Given the description of an element on the screen output the (x, y) to click on. 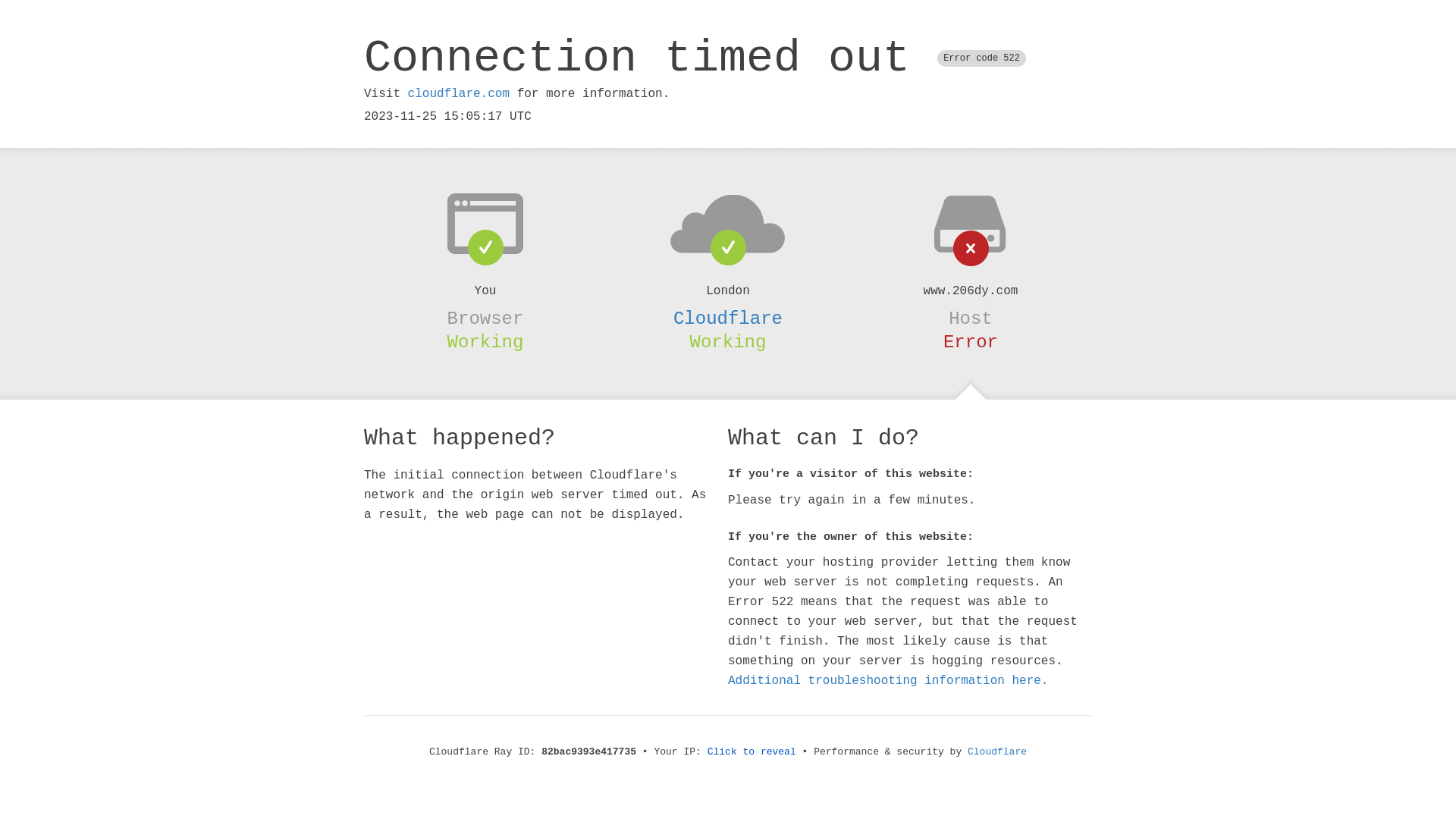
Cloudflare Element type: text (996, 751)
Additional troubleshooting information here. Element type: text (888, 680)
Click to reveal Element type: text (751, 751)
cloudflare.com Element type: text (458, 93)
Cloudflare Element type: text (727, 318)
